Given the description of an element on the screen output the (x, y) to click on. 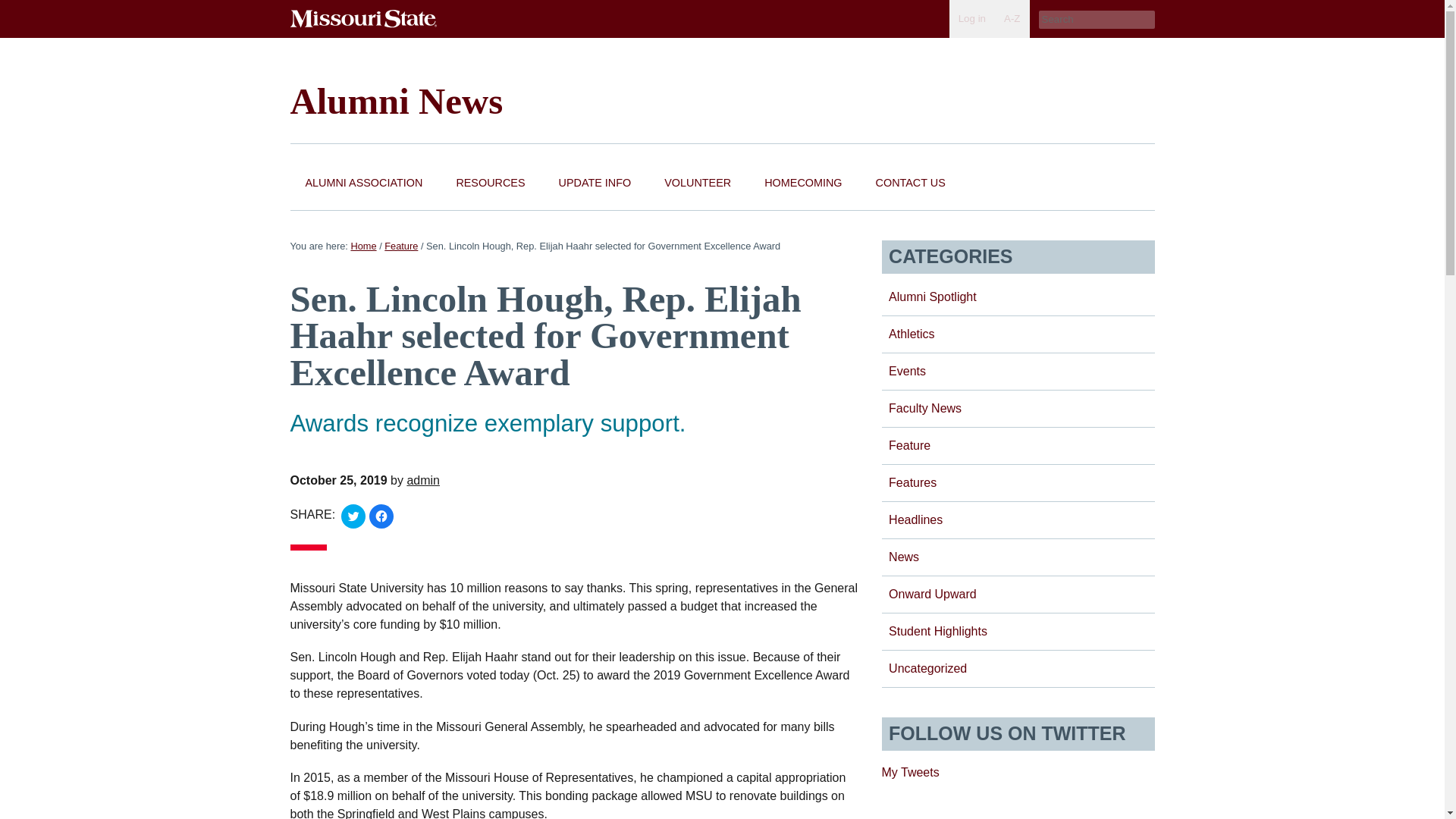
Click to share on Twitter (352, 516)
Log in (971, 18)
A-Z (1011, 18)
Alumni News (395, 101)
ALUMNI ASSOCIATION (363, 183)
RESOURCES (490, 183)
Click to share on Facebook (381, 516)
UPDATE INFO (594, 183)
VOLUNTEER (697, 183)
